Given the description of an element on the screen output the (x, y) to click on. 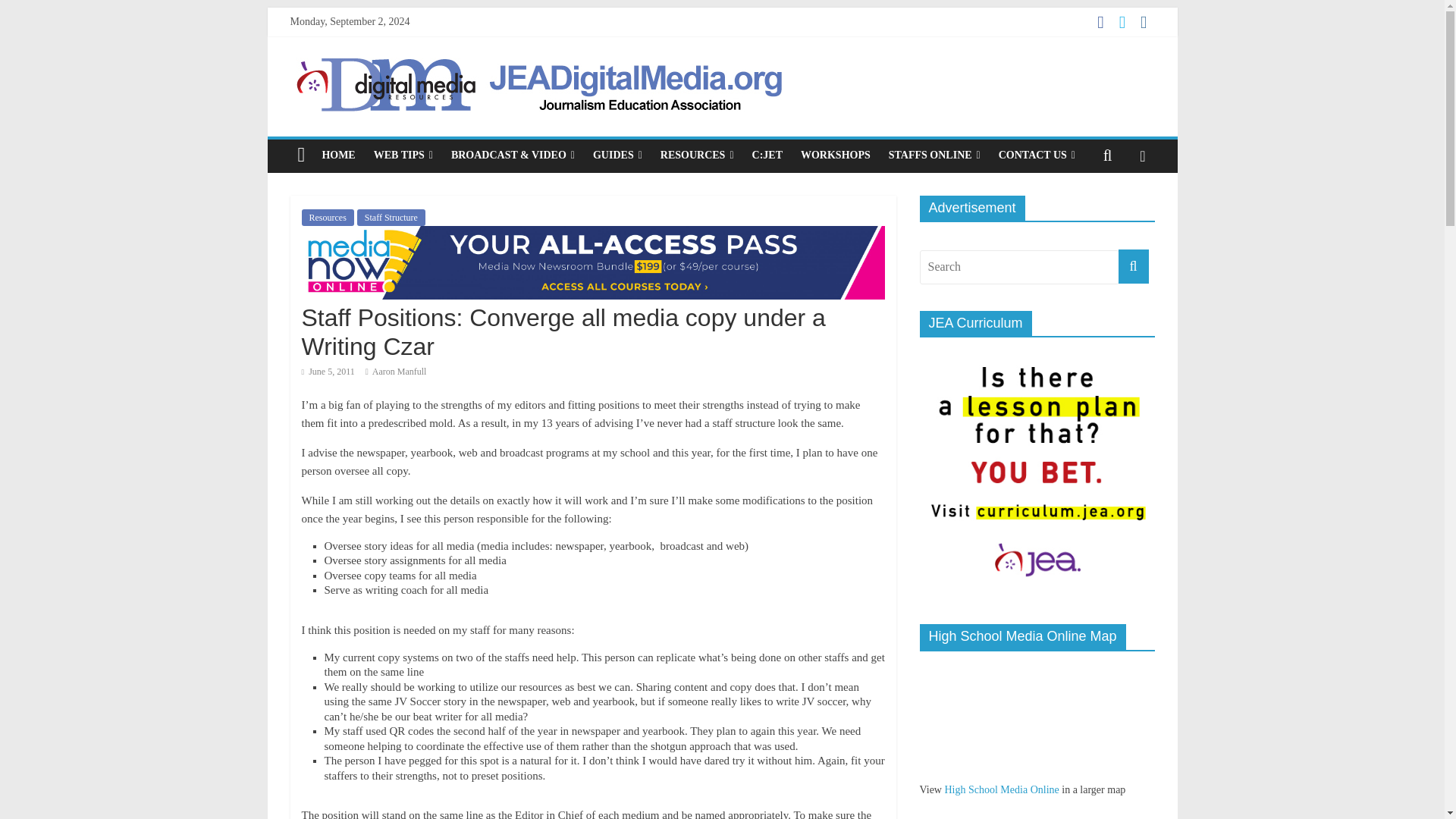
RESOURCES (696, 155)
Aaron Manfull (399, 371)
10:53 am (328, 371)
GUIDES (616, 155)
HOME (338, 155)
WEB TIPS (403, 155)
